Given the description of an element on the screen output the (x, y) to click on. 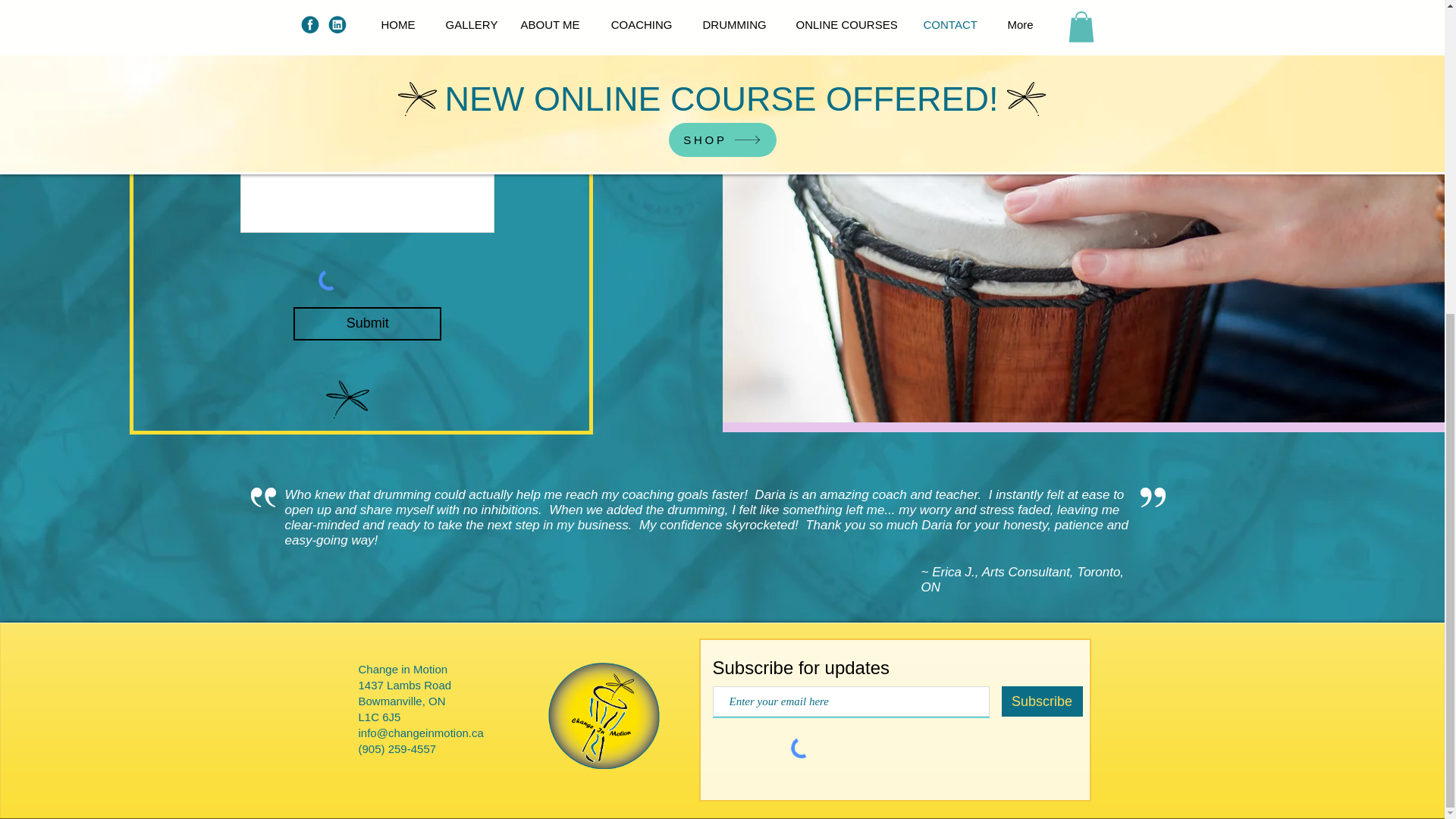
Subscribe (1041, 701)
CIM-Logo Final.gif.gif (603, 715)
Submit (367, 323)
